Given the description of an element on the screen output the (x, y) to click on. 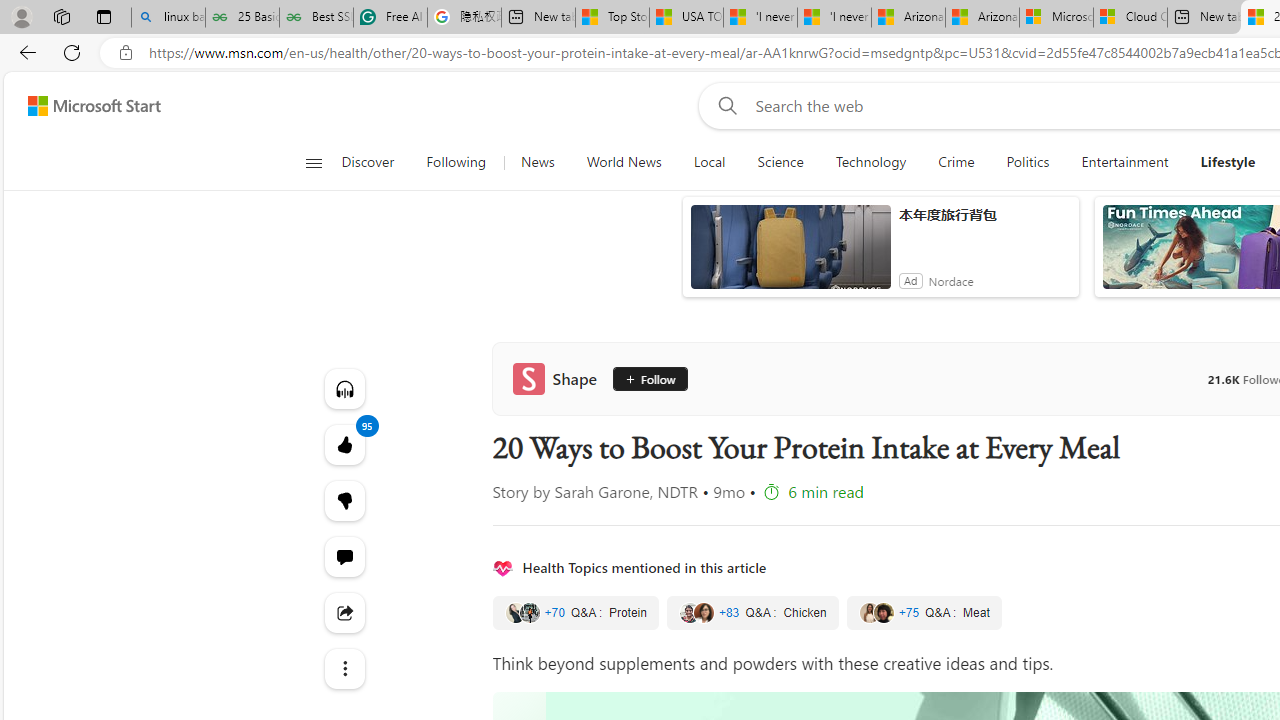
Share this story (343, 612)
Best SSL Certificates Provider in India - GeeksforGeeks (316, 17)
25 Basic Linux Commands For Beginners - GeeksforGeeks (242, 17)
95 (343, 500)
